Given the description of an element on the screen output the (x, y) to click on. 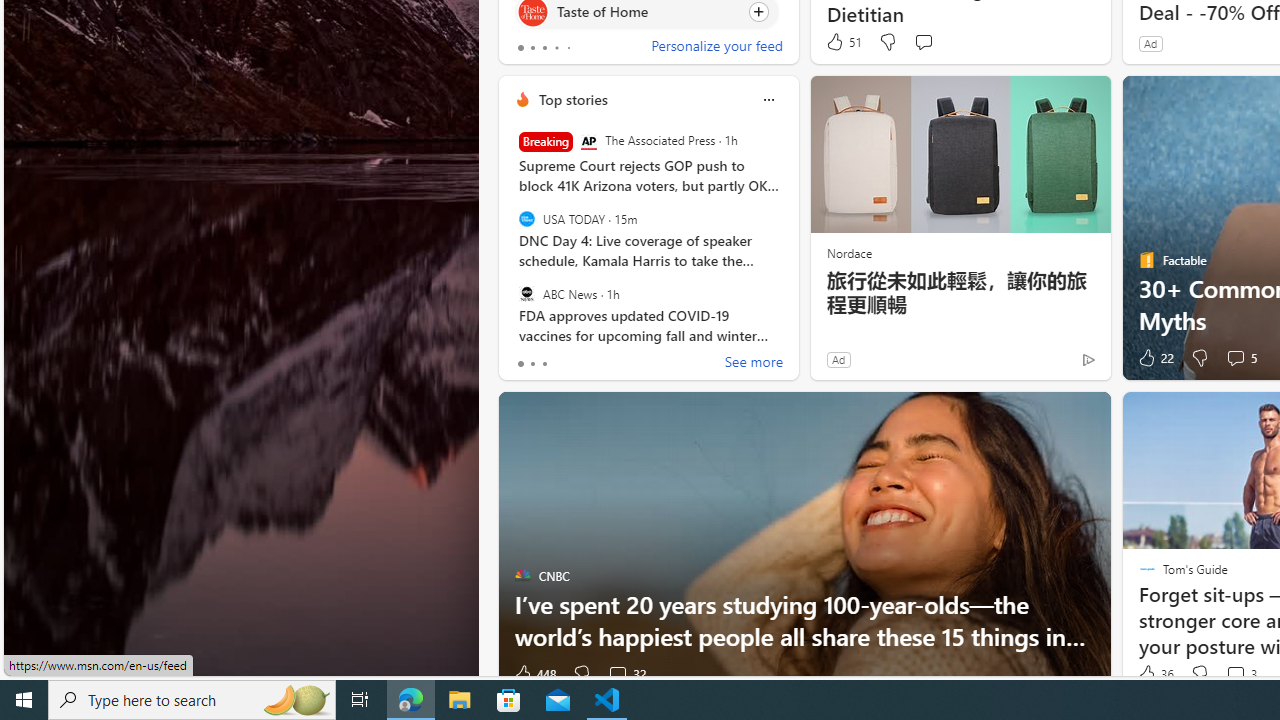
View comments 5 Comment (1234, 357)
tab-1 (532, 363)
USA TODAY (526, 219)
36 Like (1154, 674)
Class: icon-img (768, 100)
The Associated Press (587, 142)
View comments 3 Comment (1234, 673)
View comments 5 Comment (1240, 358)
